Given the description of an element on the screen output the (x, y) to click on. 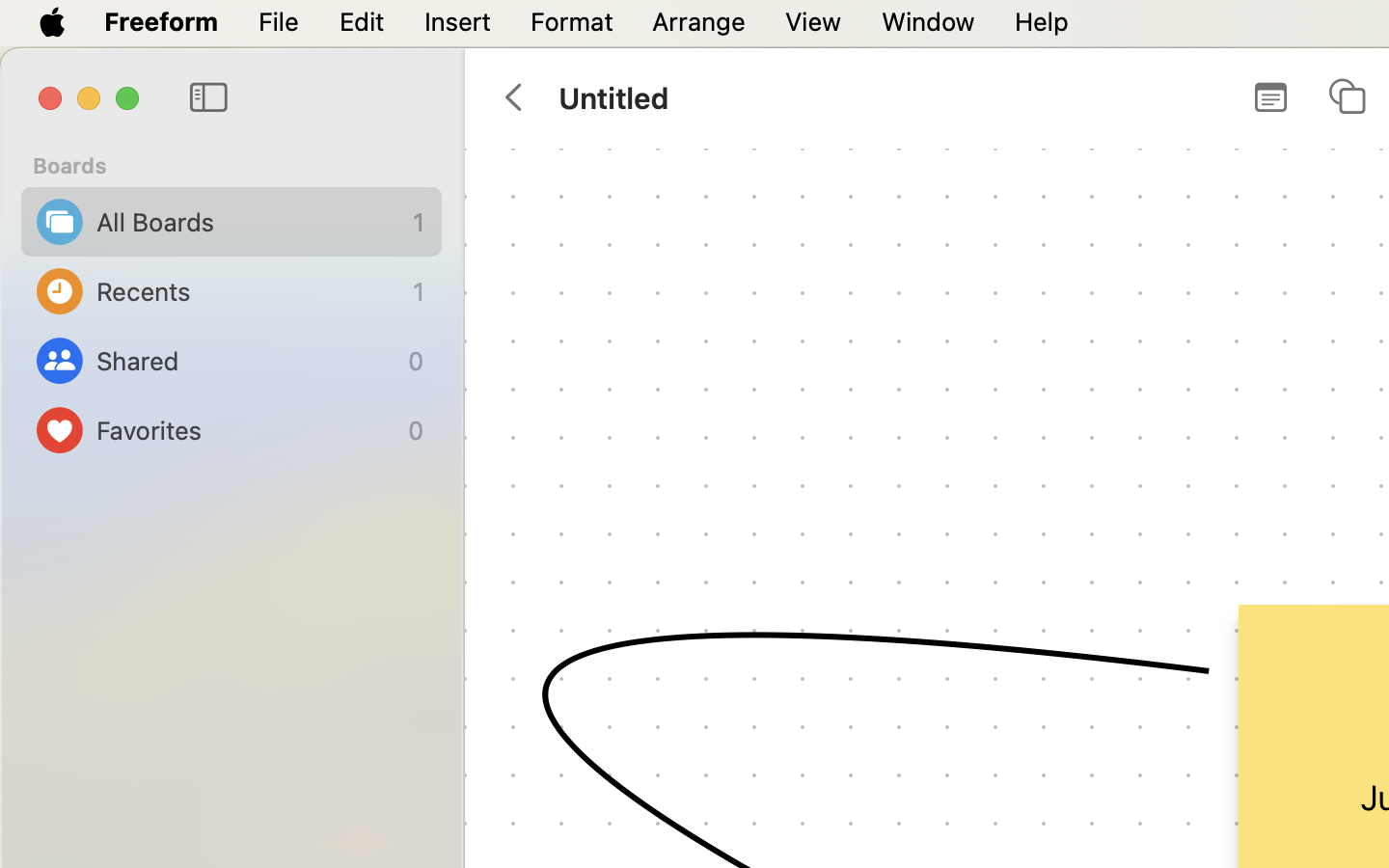
Boards Element type: AXStaticText (242, 165)
Shared Element type: AXStaticText (246, 360)
All Boards Element type: AXStaticText (249, 221)
Favorites Element type: AXStaticText (246, 429)
